Given the description of an element on the screen output the (x, y) to click on. 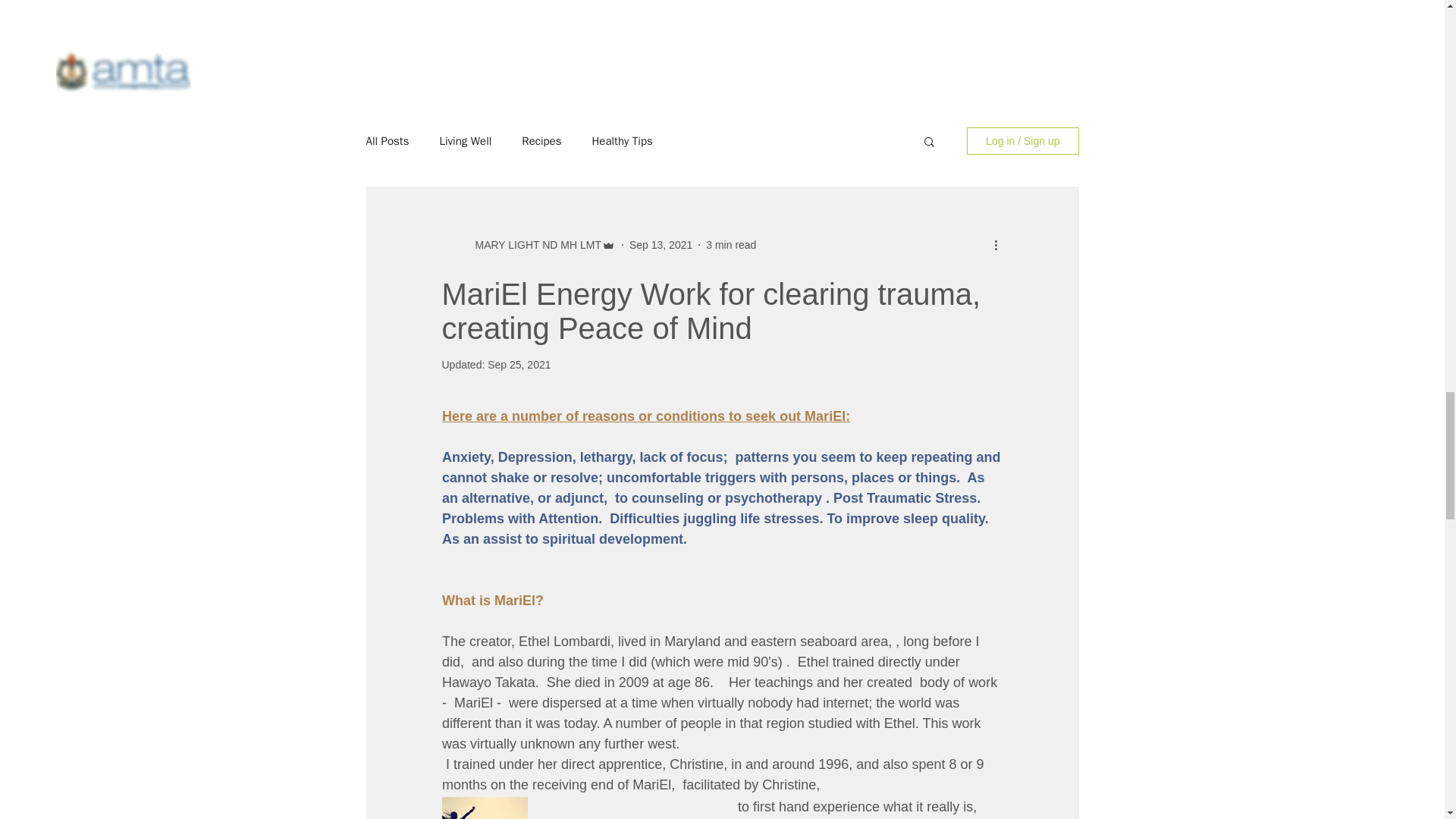
Sep 13, 2021 (660, 244)
Sep 25, 2021 (518, 364)
3 min read (730, 244)
Healthy Tips (621, 141)
Living Well (465, 141)
Recipes (540, 141)
MARY LIGHT ND MH LMT (532, 245)
All Posts (387, 141)
